Given the description of an element on the screen output the (x, y) to click on. 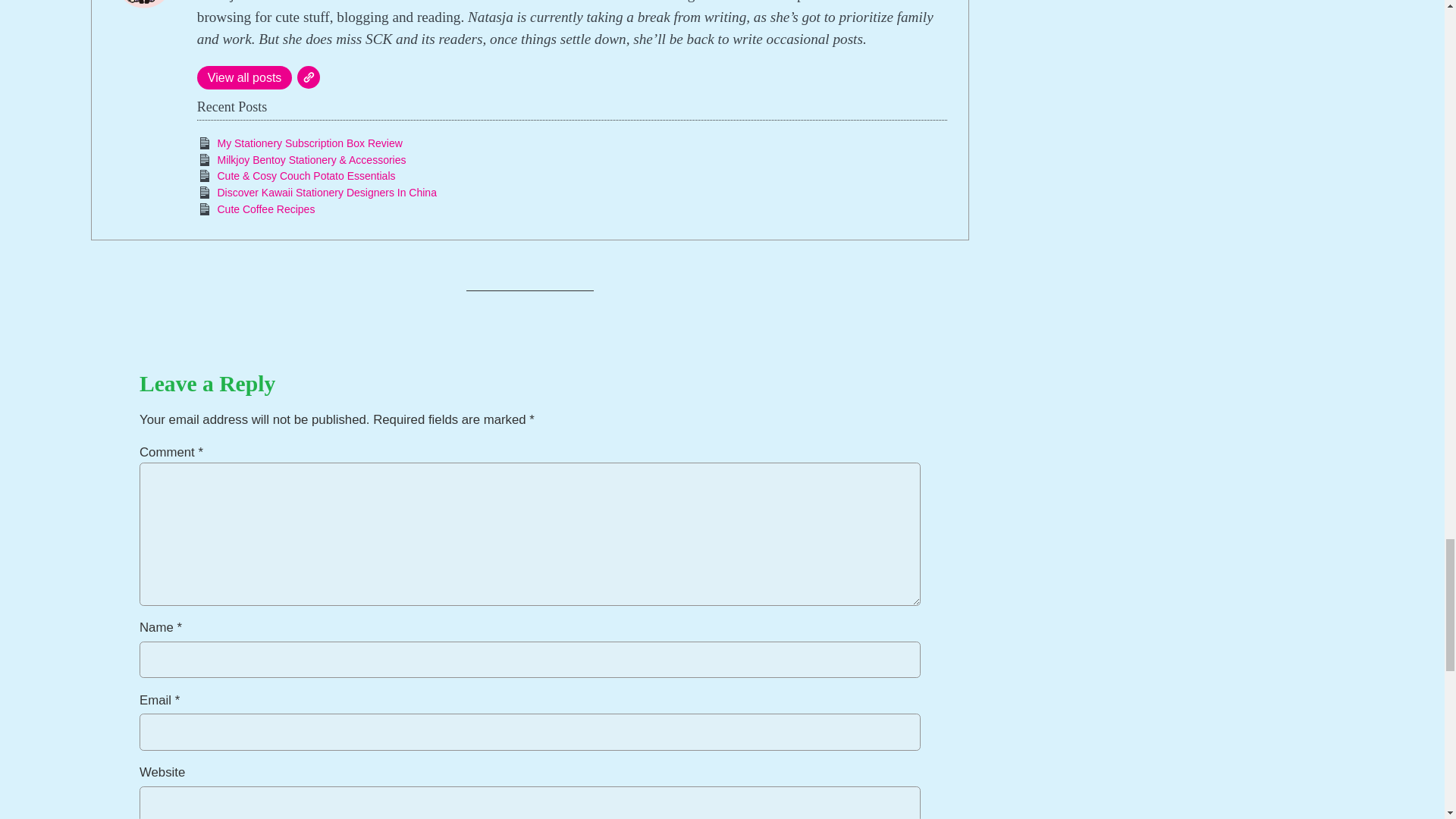
My Stationery Subscription Box Review (308, 143)
Discover Kawaii Stationery Designers In China (325, 192)
View all posts (244, 77)
Cute Coffee Recipes (265, 209)
